Given the description of an element on the screen output the (x, y) to click on. 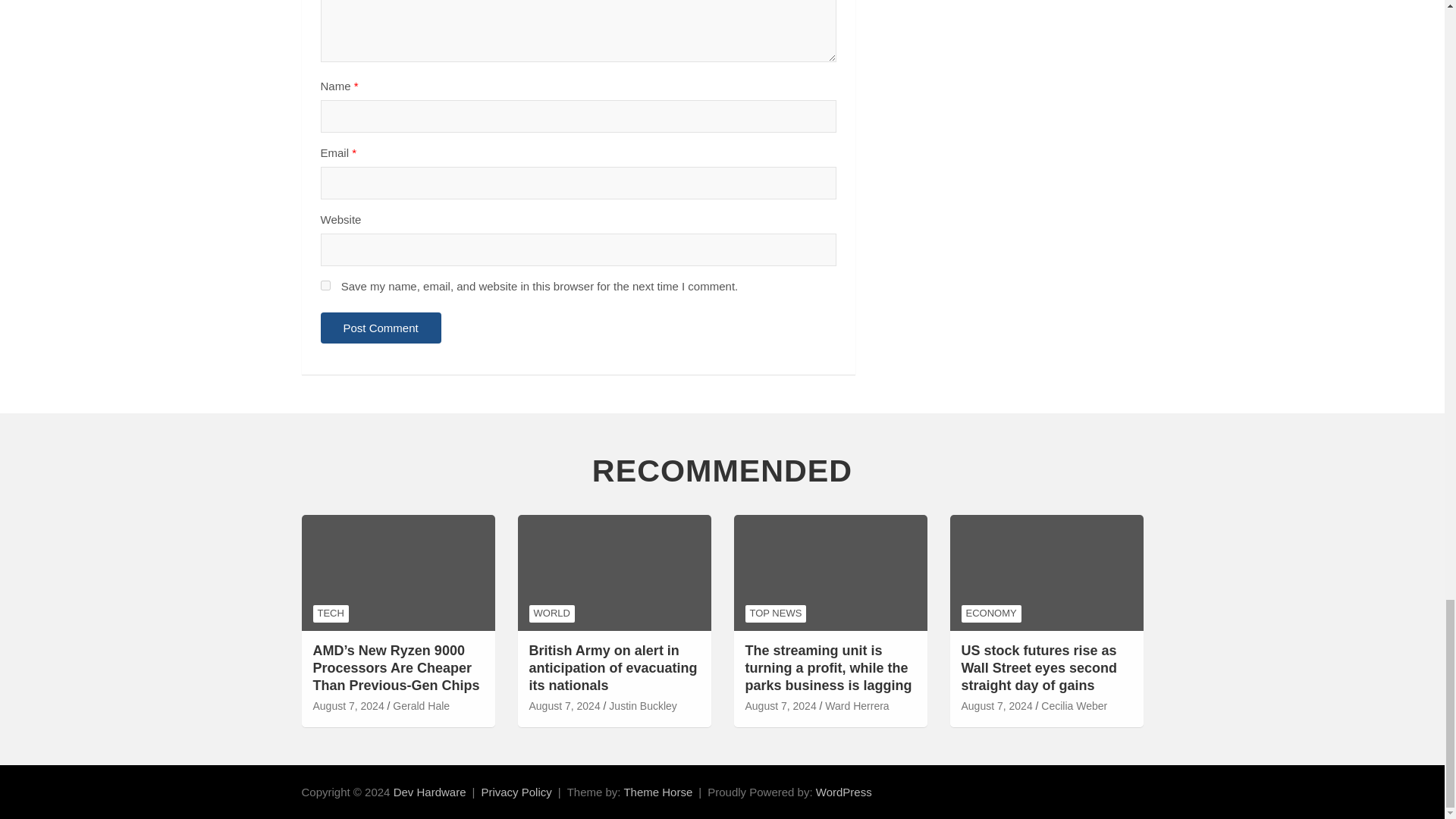
Post Comment (380, 327)
Post Comment (380, 327)
WordPress (843, 791)
Theme Horse (658, 791)
TECH (330, 613)
Dev Hardware (429, 791)
yes (325, 285)
